Given the description of an element on the screen output the (x, y) to click on. 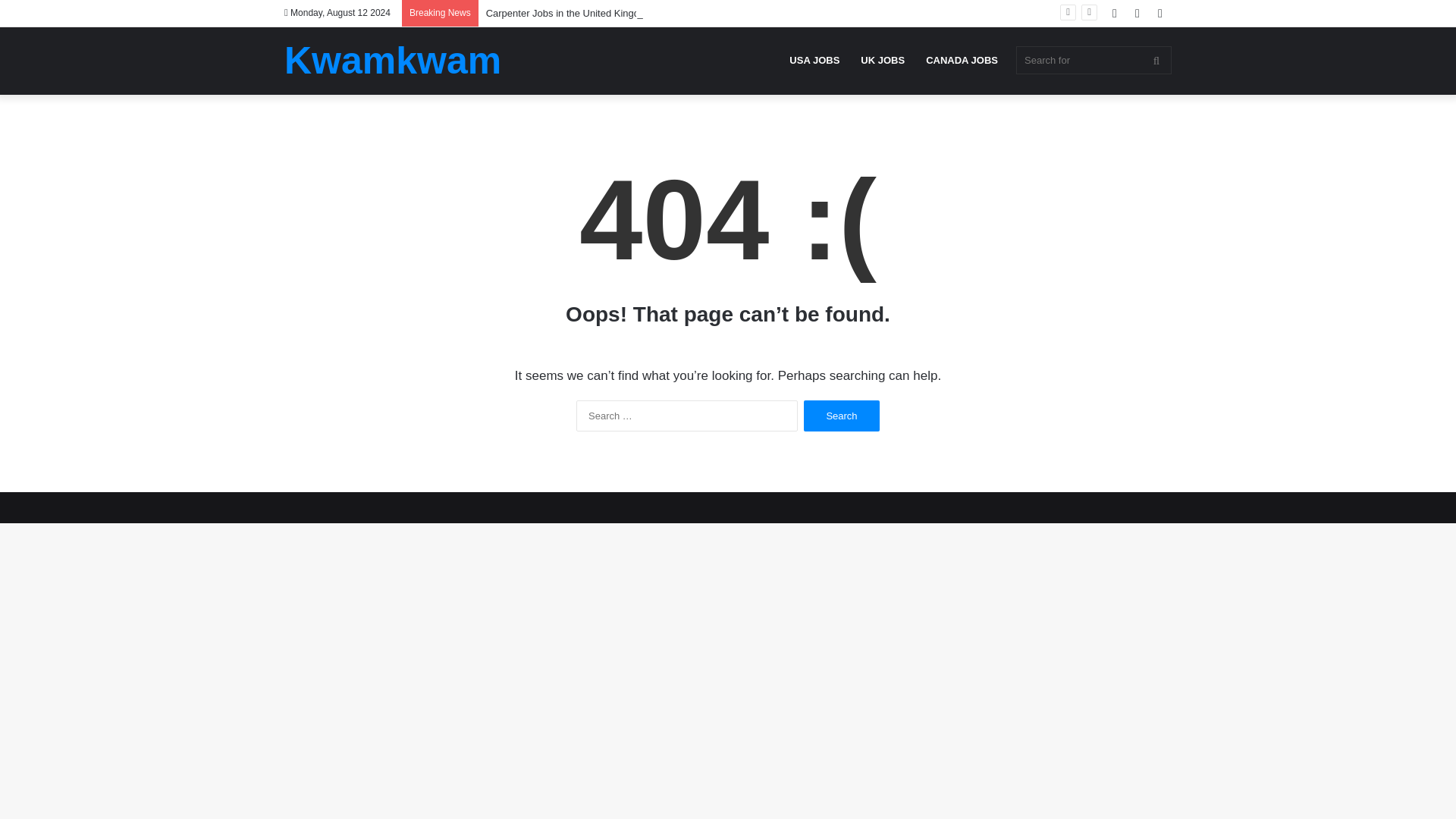
Kwamkwam (391, 60)
Search (841, 415)
UK JOBS (882, 60)
Search for (1094, 59)
Search (841, 415)
Carpenter Jobs in the United Kingdom: A Comprehensive Guide (625, 12)
CANADA JOBS (962, 60)
Search (841, 415)
Kwamkwam (391, 60)
USA JOBS (814, 60)
